Given the description of an element on the screen output the (x, y) to click on. 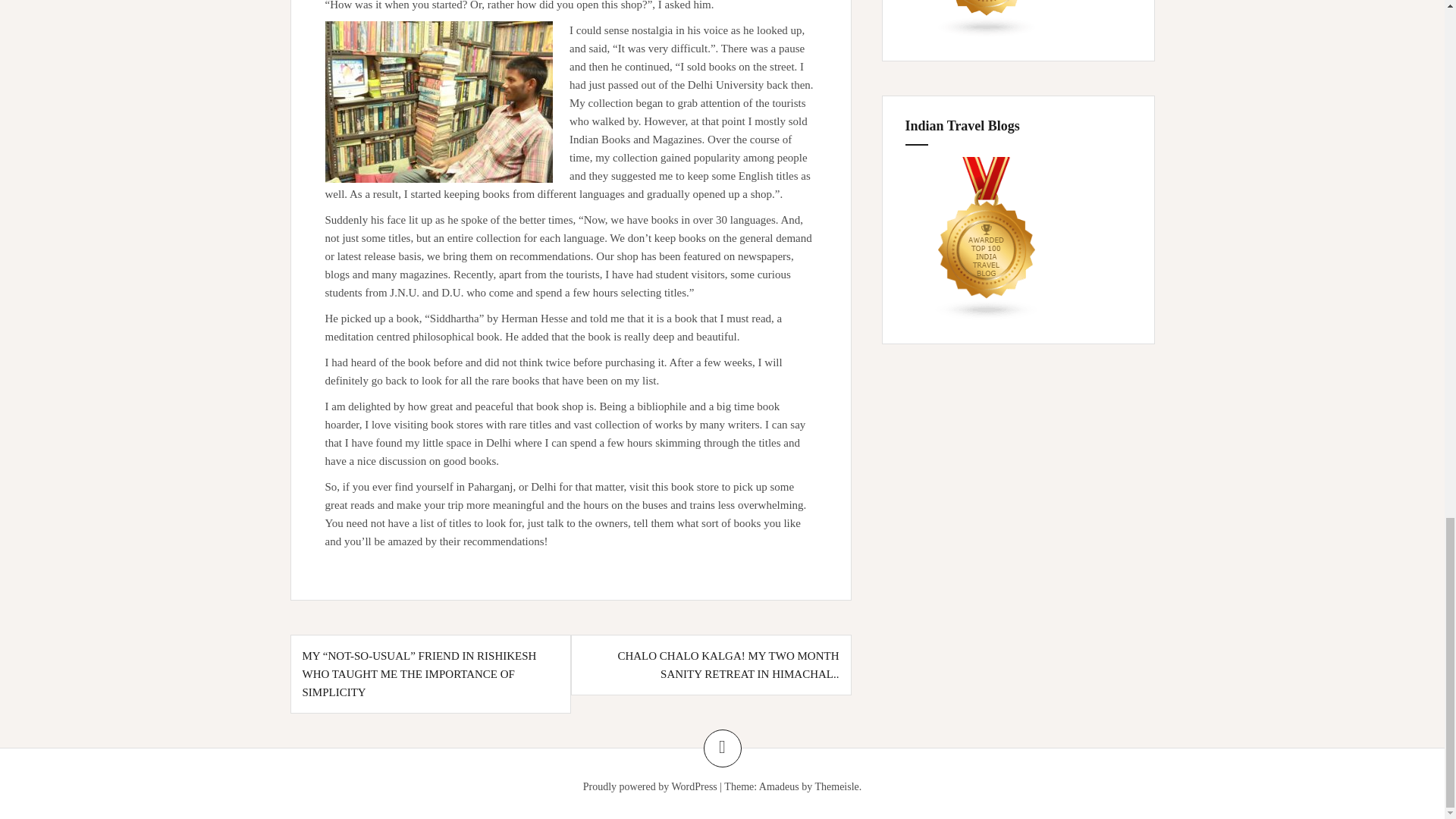
Solo Female Travel Blogs (986, 18)
Proudly powered by WordPress (650, 786)
CHALO CHALO KALGA! MY TWO MONTH SANITY RETREAT IN HIMACHAL.. (727, 665)
Amadeus (778, 786)
Indian Travel Blogs (986, 239)
